Given the description of an element on the screen output the (x, y) to click on. 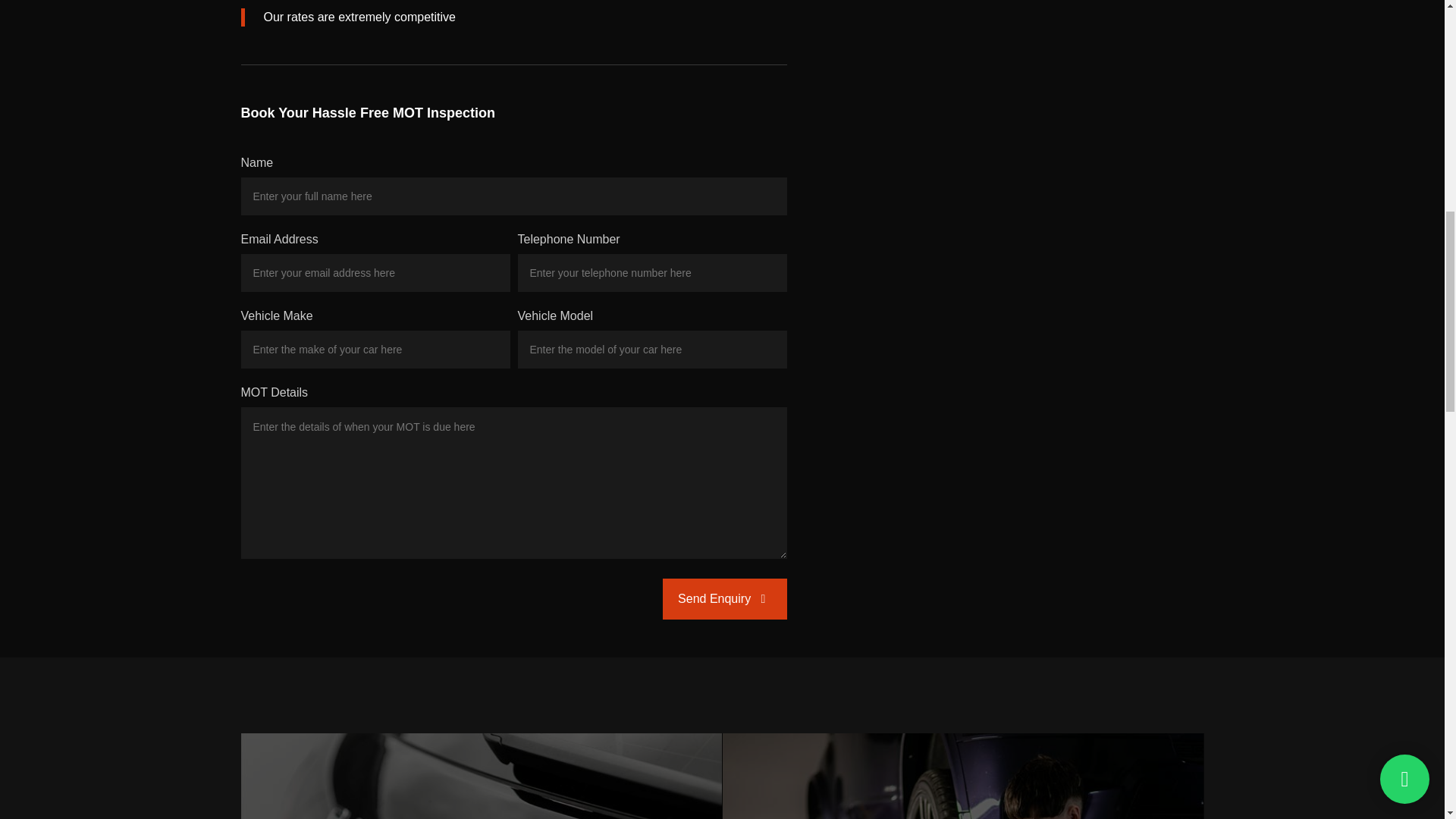
Telephone Number (651, 272)
Email Address (376, 272)
Vehicle Make (376, 349)
Name (514, 196)
Vehicle Model (481, 776)
Send Enquiry (963, 776)
MOT Details (651, 349)
